Given the description of an element on the screen output the (x, y) to click on. 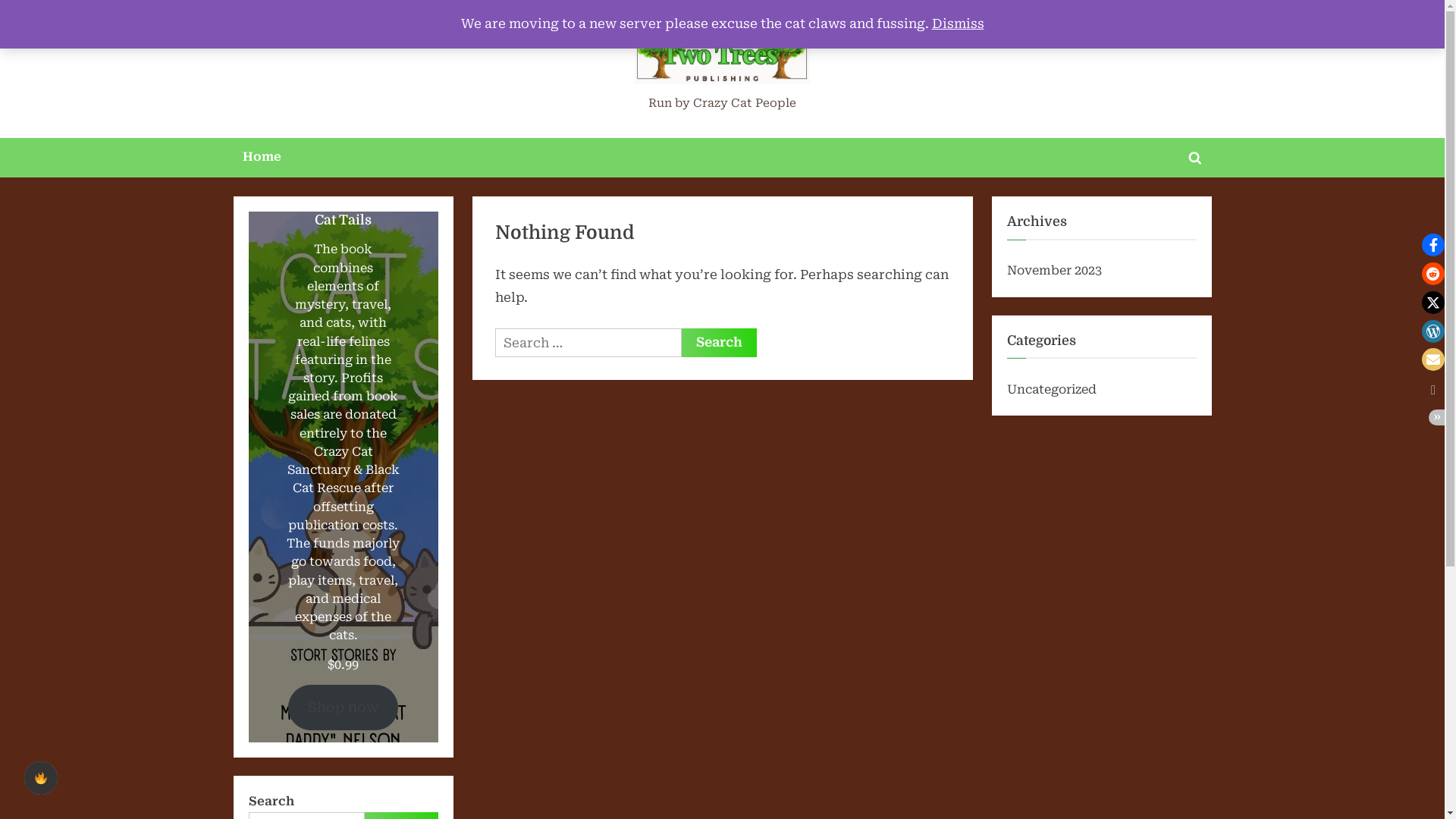
Uncategorized Element type: text (1051, 389)
Toggle search form Element type: text (1194, 157)
Home Element type: text (262, 157)
November 2023 Element type: text (1054, 270)
Two Trees Publishing Element type: text (750, 107)
Shop now Element type: text (343, 707)
Dismiss Element type: text (957, 23)
Search Element type: text (718, 342)
